Given the description of an element on the screen output the (x, y) to click on. 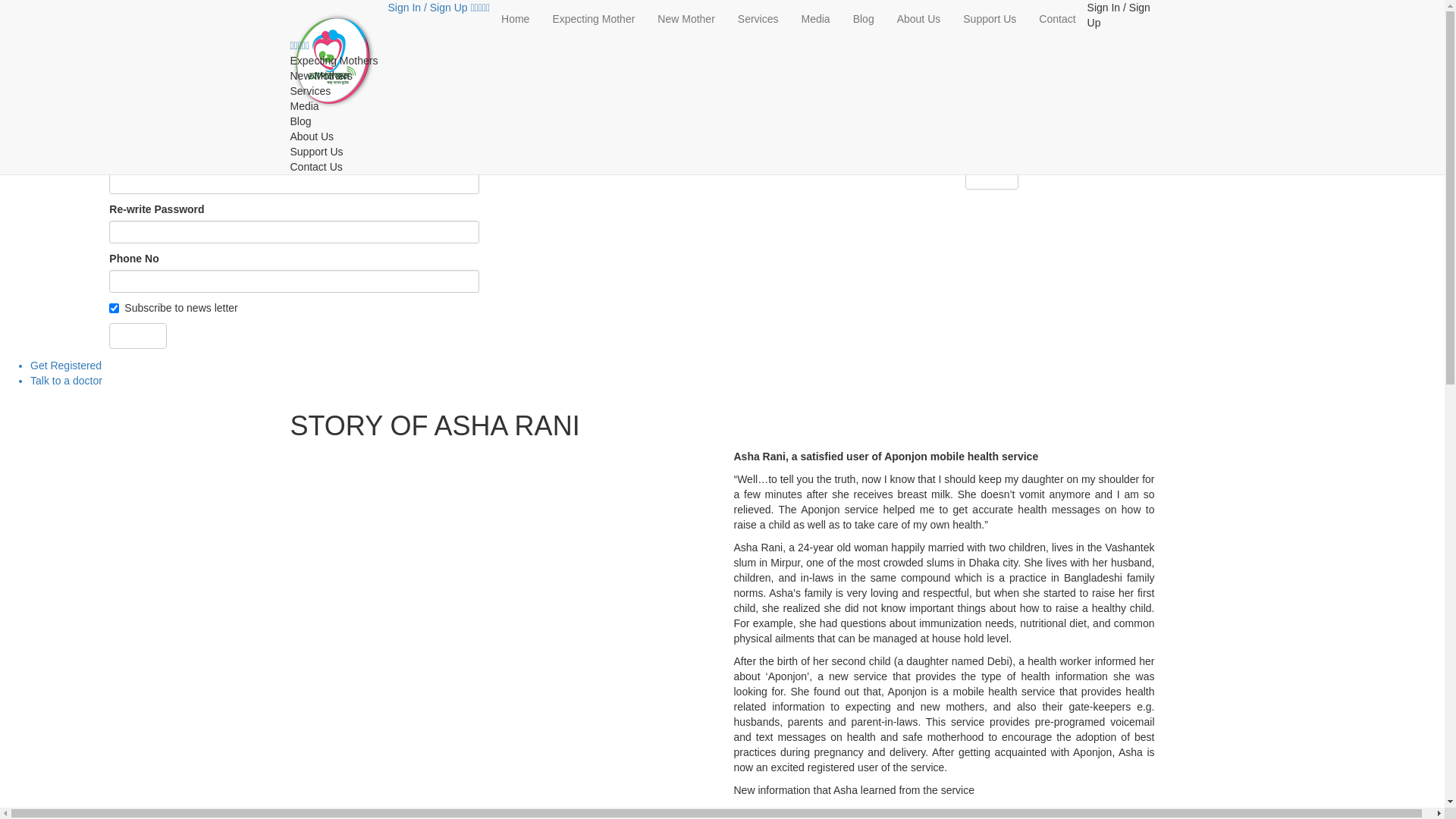
Sign In Element type: text (991, 176)
Media Element type: text (815, 18)
New Mother Element type: text (685, 18)
Blog Element type: text (863, 18)
Services Element type: text (758, 18)
Sign In / Sign Up Element type: text (429, 7)
Get Registered
Talk to a doctor Element type: text (722, 372)
Sign Up Element type: text (137, 335)
Home Element type: text (514, 18)
Expecting Mother Element type: text (593, 18)
Contact Element type: text (1056, 18)
Support Us Element type: text (989, 18)
About Us Element type: text (918, 18)
Forgot Password ? Element type: text (1112, 148)
